Given the description of an element on the screen output the (x, y) to click on. 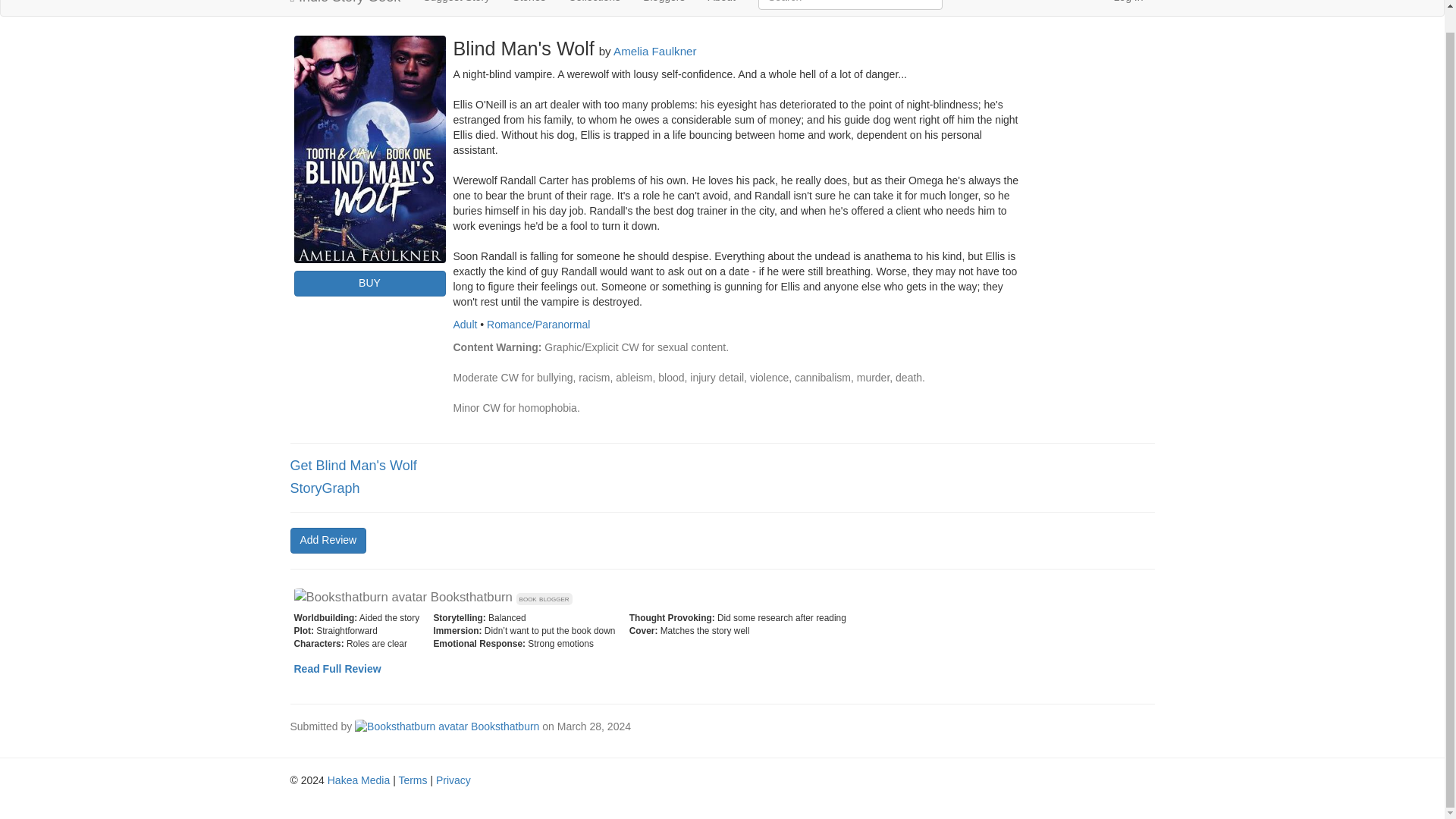
Privacy (452, 779)
StoryGraph (324, 488)
Adult (464, 324)
Add Review (327, 540)
BUY (369, 283)
Amelia Faulkner (654, 51)
Collections (594, 7)
Suggest Story (456, 7)
Log In (1128, 7)
Get Blind Man's Wolf (352, 465)
About (720, 7)
Bloggers (663, 7)
Terms (411, 779)
Hakea Media (358, 779)
Booksthatburn book blogger (433, 597)
